Given the description of an element on the screen output the (x, y) to click on. 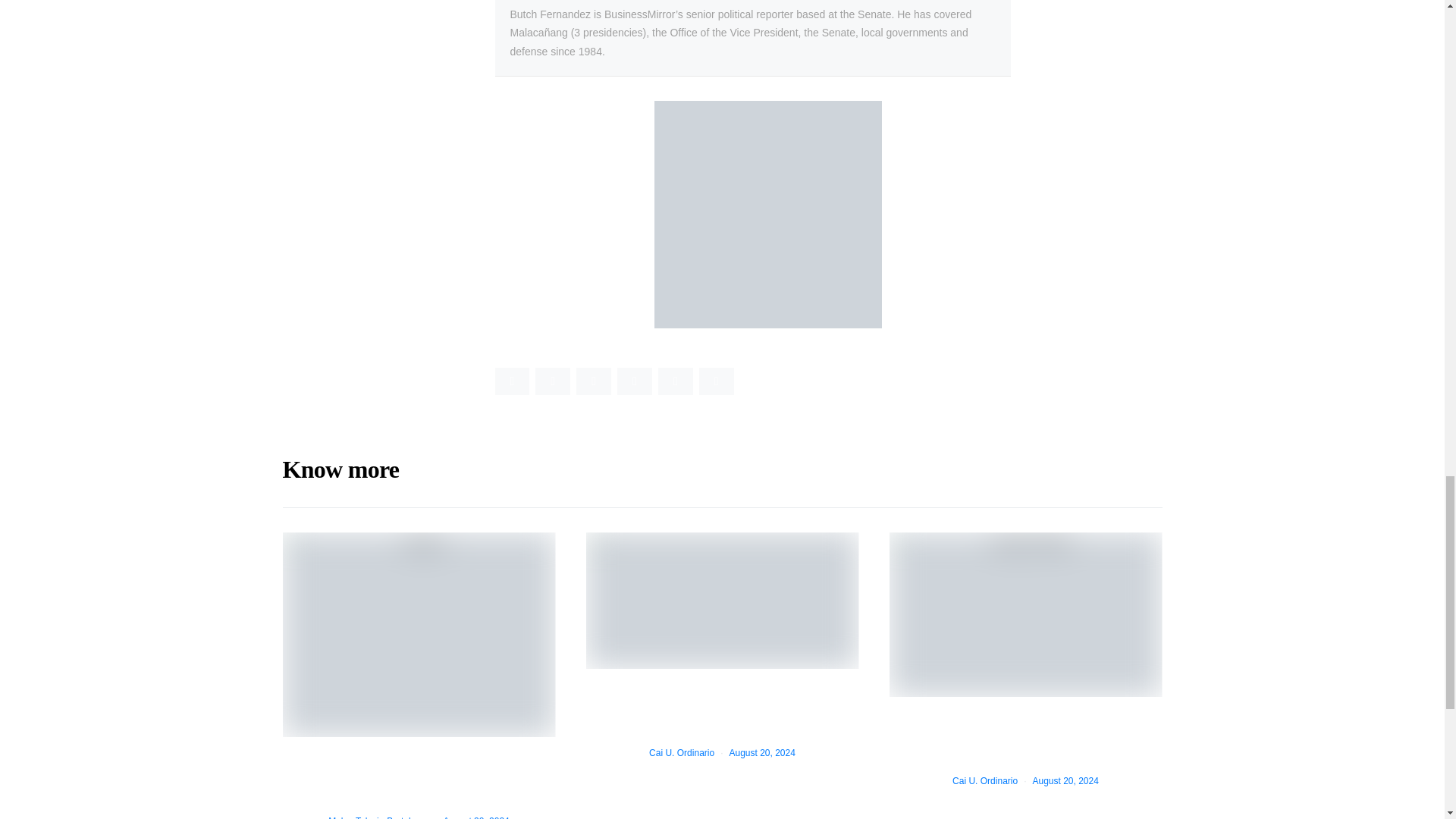
View all posts by Cai U. Ordinario (984, 780)
View all posts by Cai U. Ordinario (681, 752)
View all posts by Malou Talosig-Bartolome (378, 817)
